Given the description of an element on the screen output the (x, y) to click on. 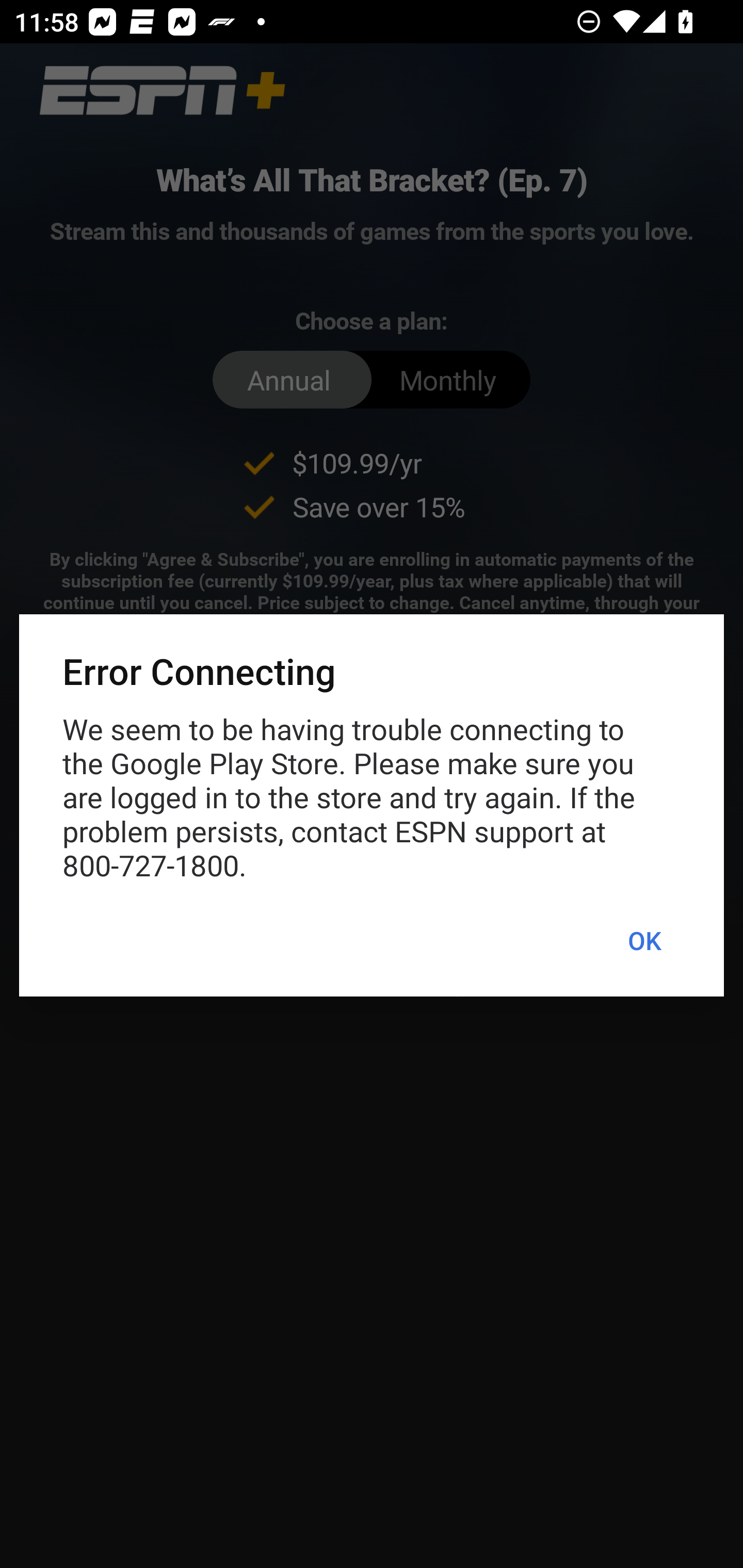
OK (644, 940)
